Given the description of an element on the screen output the (x, y) to click on. 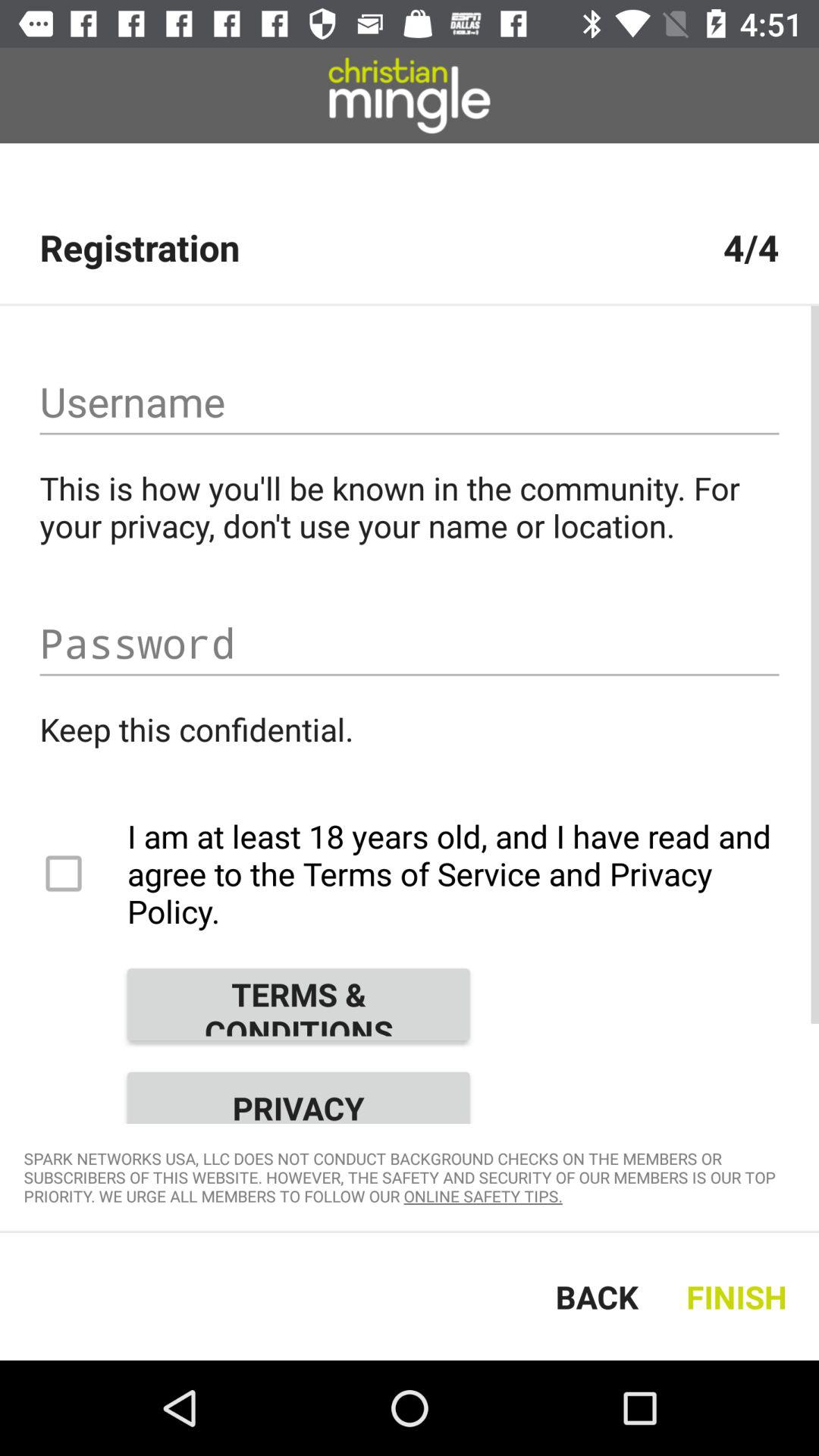
flip to terms & conditions icon (298, 1004)
